Given the description of an element on the screen output the (x, y) to click on. 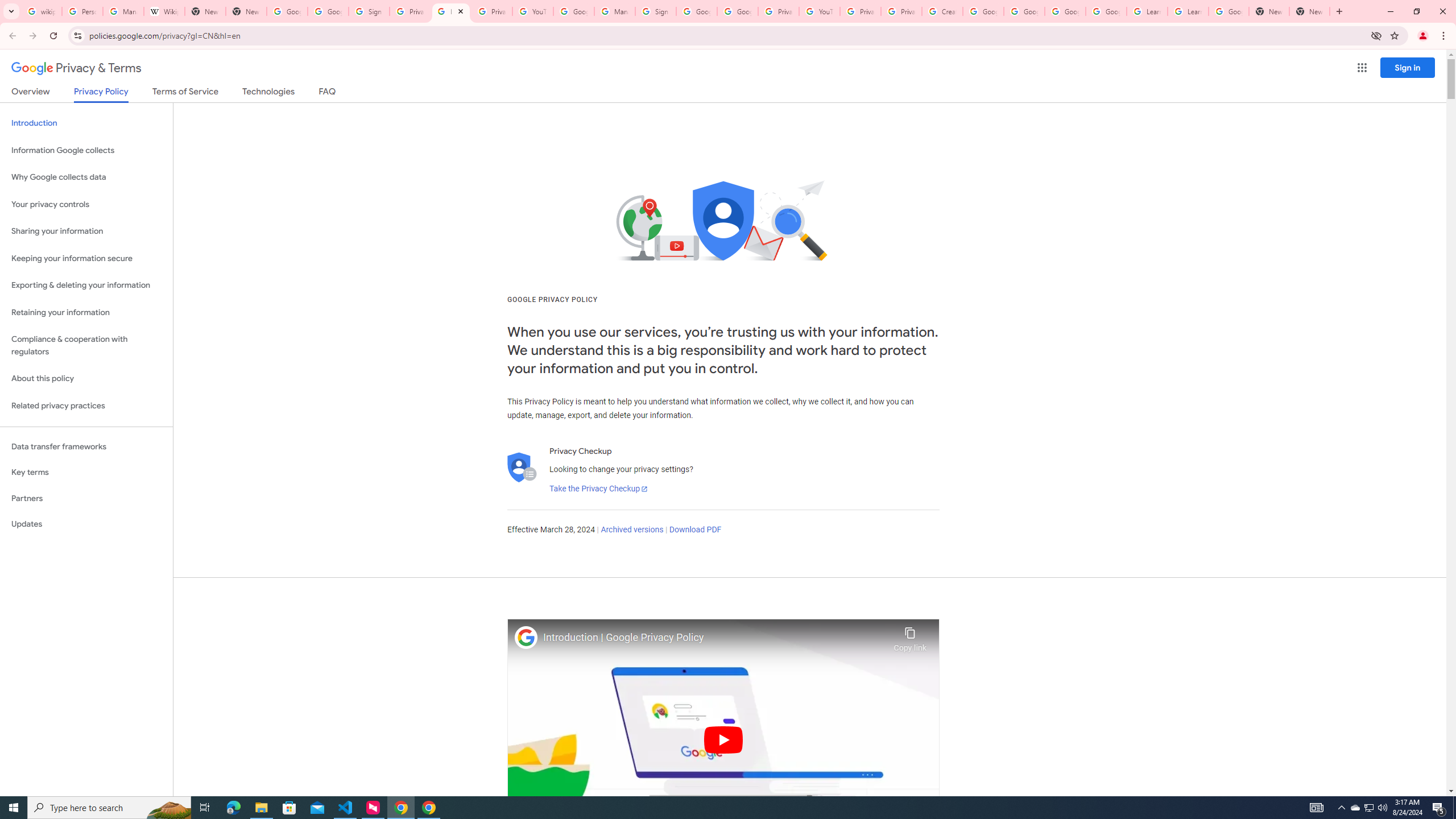
New Tab (1268, 11)
Overview (30, 93)
Personalization & Google Search results - Google Search Help (81, 11)
Copy link (909, 636)
Your privacy controls (86, 204)
Introduction (86, 122)
Address and search bar (726, 35)
